Given the description of an element on the screen output the (x, y) to click on. 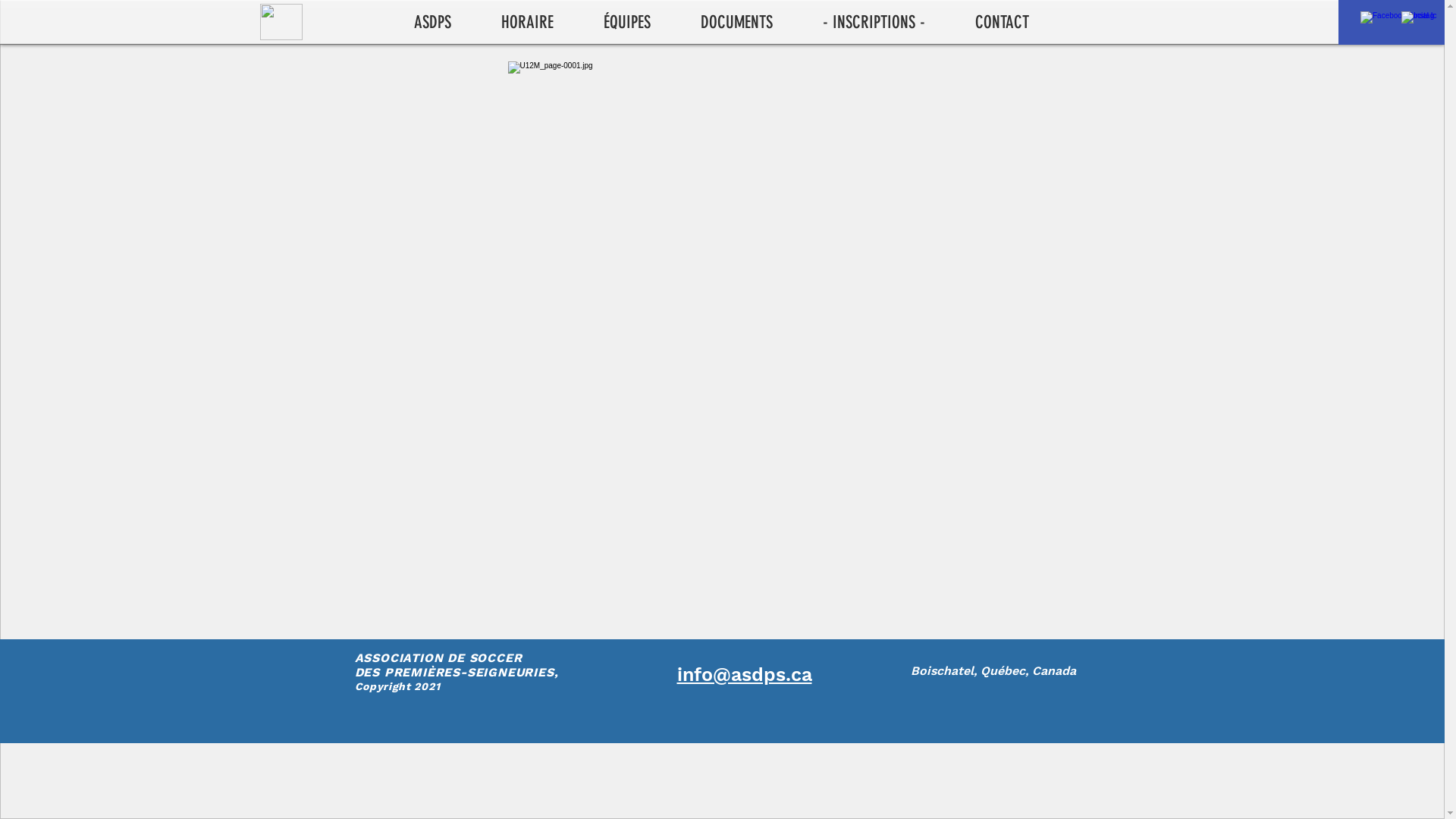
CONTACT Element type: text (1015, 22)
138312125_741719199789538_20345555740811 Element type: hover (280, 21)
info@asdps.ca Element type: text (743, 674)
DOCUMENTS Element type: text (750, 22)
- INSCRIPTIONS - Element type: text (887, 22)
ASDPS Element type: text (445, 22)
HORAIRE Element type: text (540, 22)
